Given the description of an element on the screen output the (x, y) to click on. 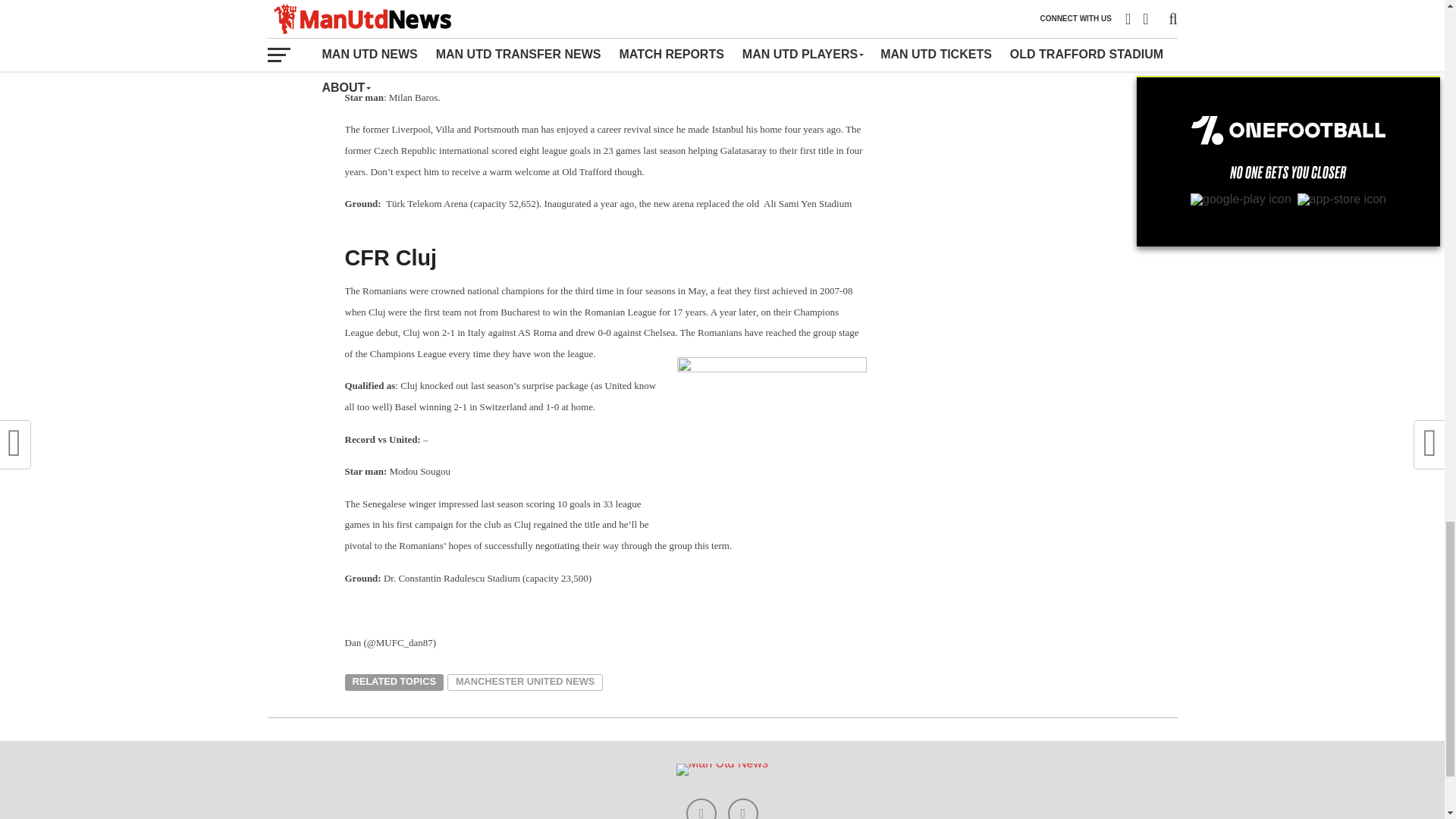
cluj (771, 428)
MANCHESTER UNITED NEWS (524, 682)
